Given the description of an element on the screen output the (x, y) to click on. 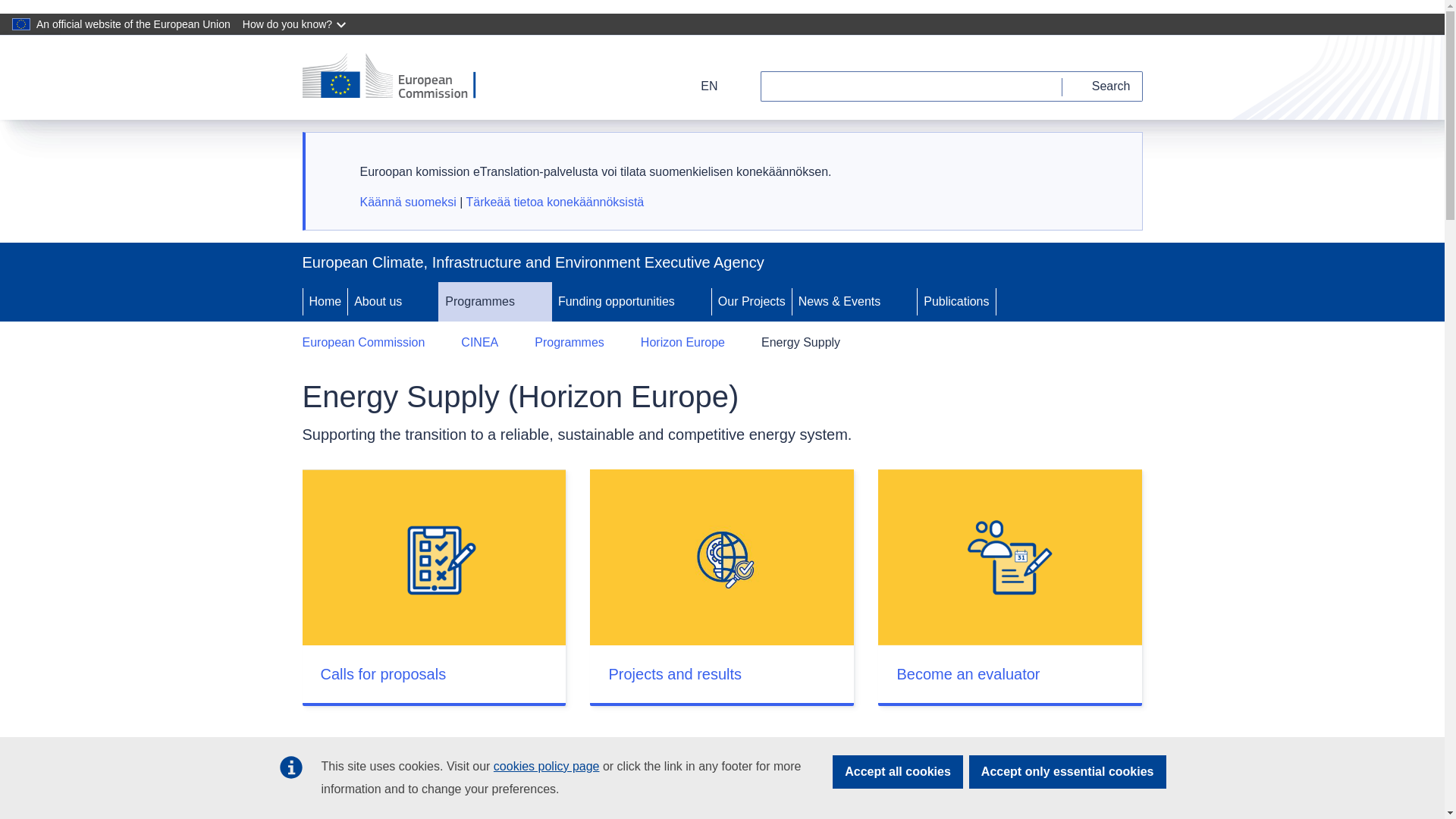
Funding opportunities (614, 301)
About us (375, 301)
Accept all cookies (897, 771)
Home (324, 301)
Search (1102, 86)
Accept only essential cookies (1067, 771)
How do you know? (295, 24)
cookies policy page (546, 766)
EN (699, 86)
